Given the description of an element on the screen output the (x, y) to click on. 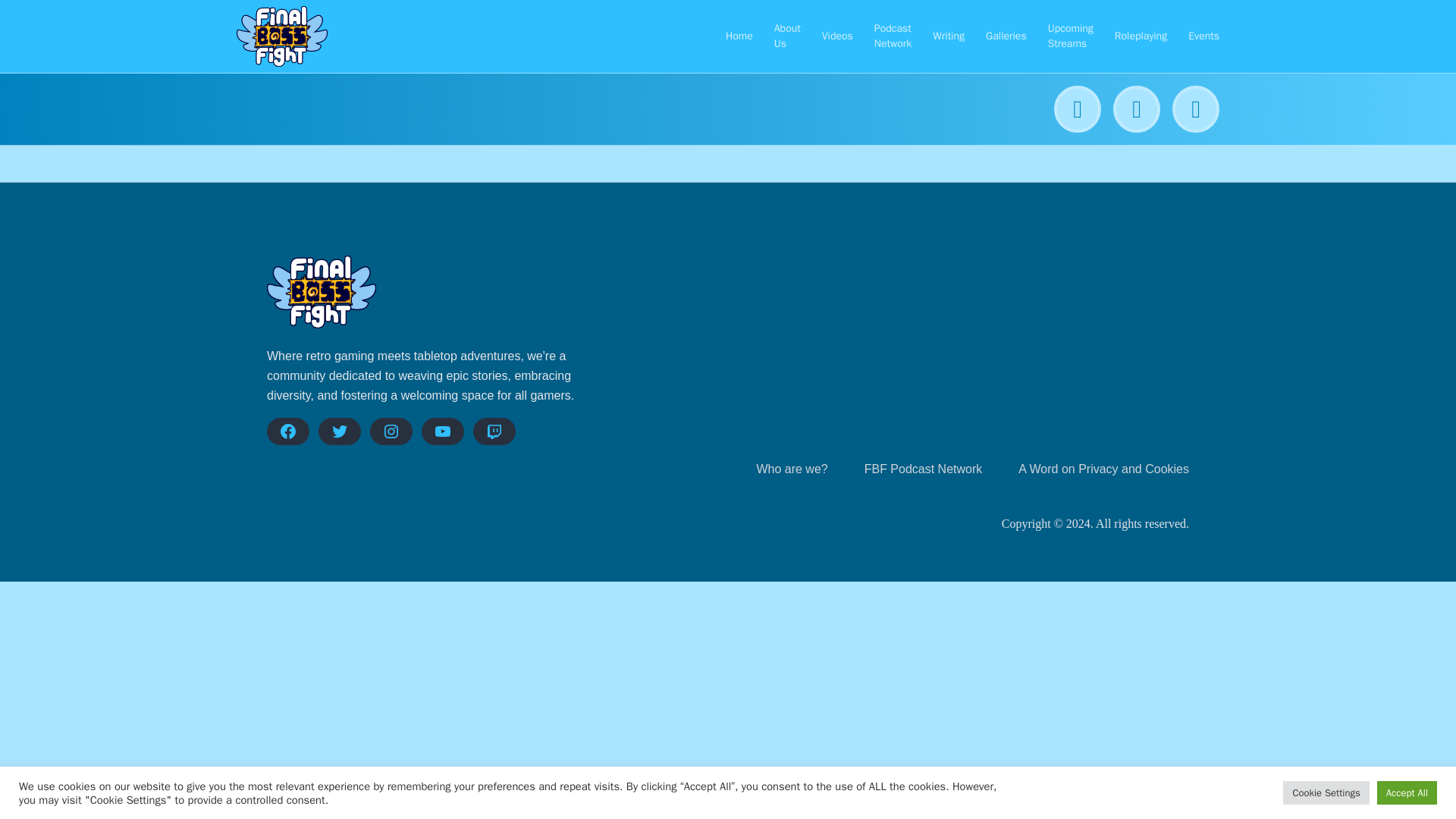
Roleplaying (1141, 35)
Twitch (494, 431)
A Word on Privacy and Cookies (1103, 468)
Facebook (287, 431)
FBF Podcast Network (923, 468)
Instagram (390, 431)
Twitter (339, 431)
Who are we? (791, 468)
YouTube (443, 431)
